Given the description of an element on the screen output the (x, y) to click on. 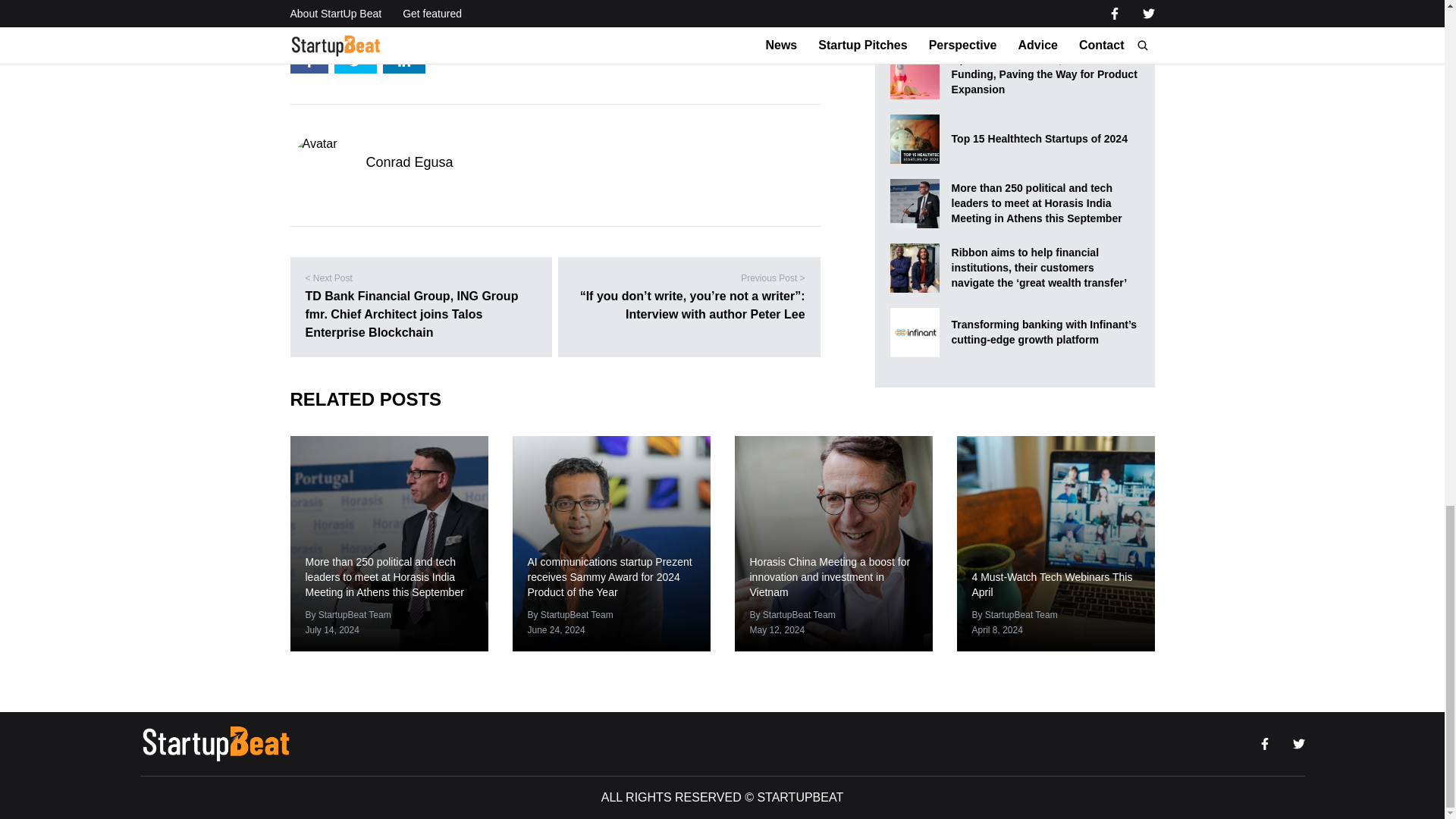
Aruba Startups (332, 9)
ATECH Conference (435, 9)
Conrad Egusa (408, 161)
